Given the description of an element on the screen output the (x, y) to click on. 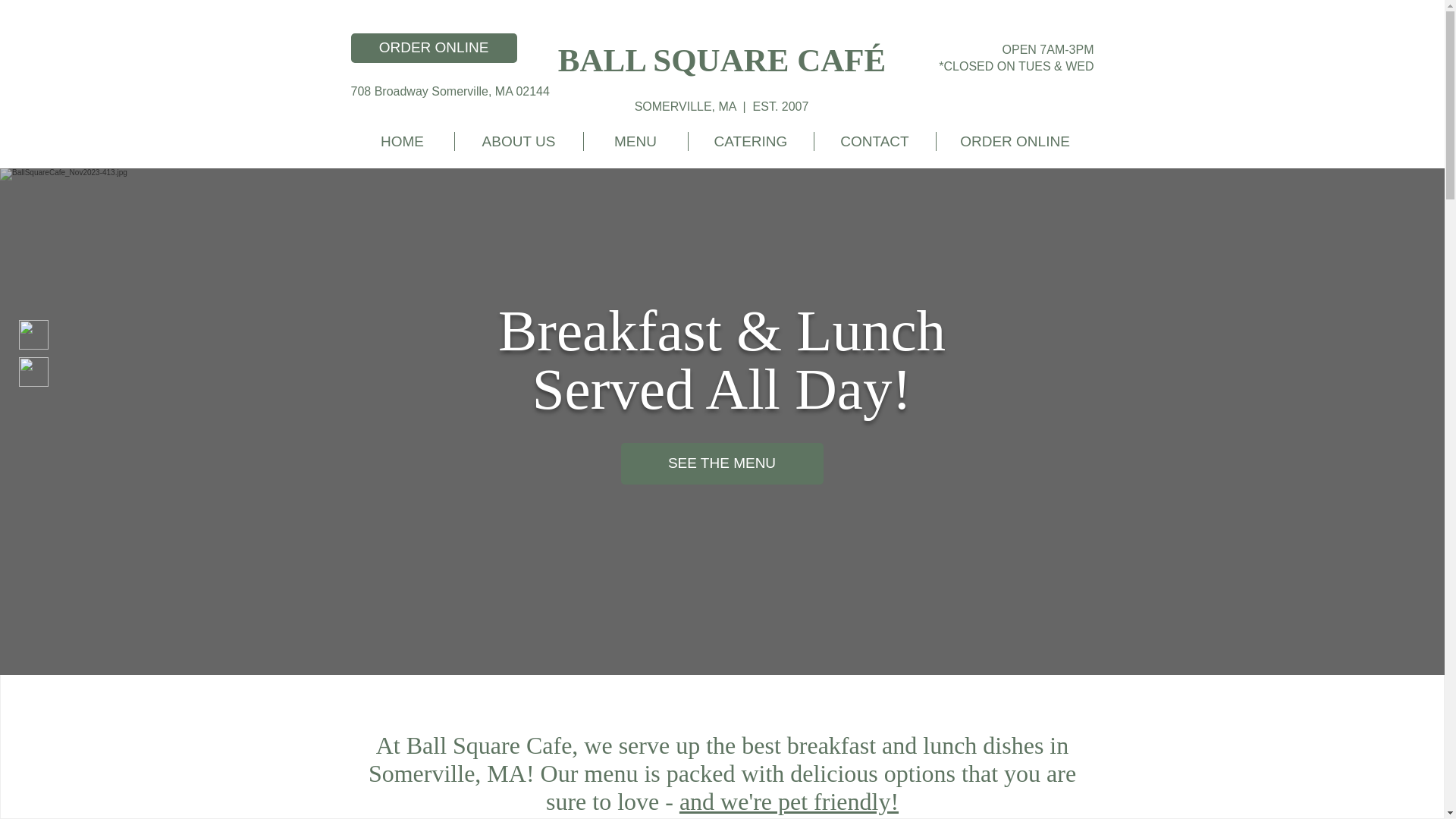
HOME (401, 140)
ORDER ONLINE (1014, 140)
ORDER ONLINE (433, 48)
SEE THE MENU (721, 463)
ABOUT US (518, 140)
CONTACT (874, 140)
MENU (635, 140)
